Given the description of an element on the screen output the (x, y) to click on. 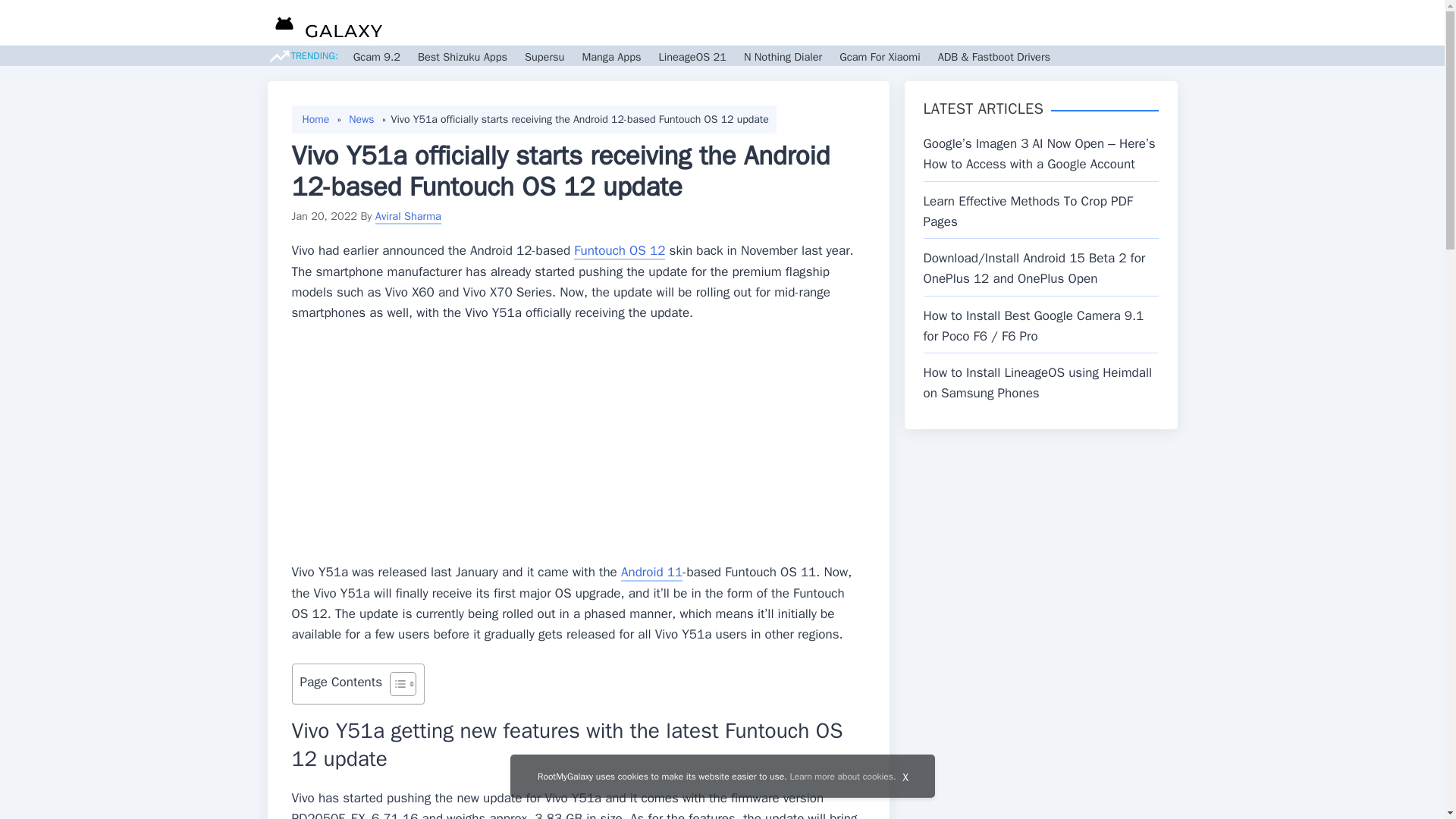
Advertisement (577, 448)
Supersu (544, 56)
LineageOS 21 (691, 56)
Aviral Sharma (408, 215)
Others (1021, 22)
N Nothing Dialer (783, 56)
Guides (785, 22)
Rootmygalaxy (325, 25)
News (734, 22)
Gcam For Xiaomi (880, 56)
